Given the description of an element on the screen output the (x, y) to click on. 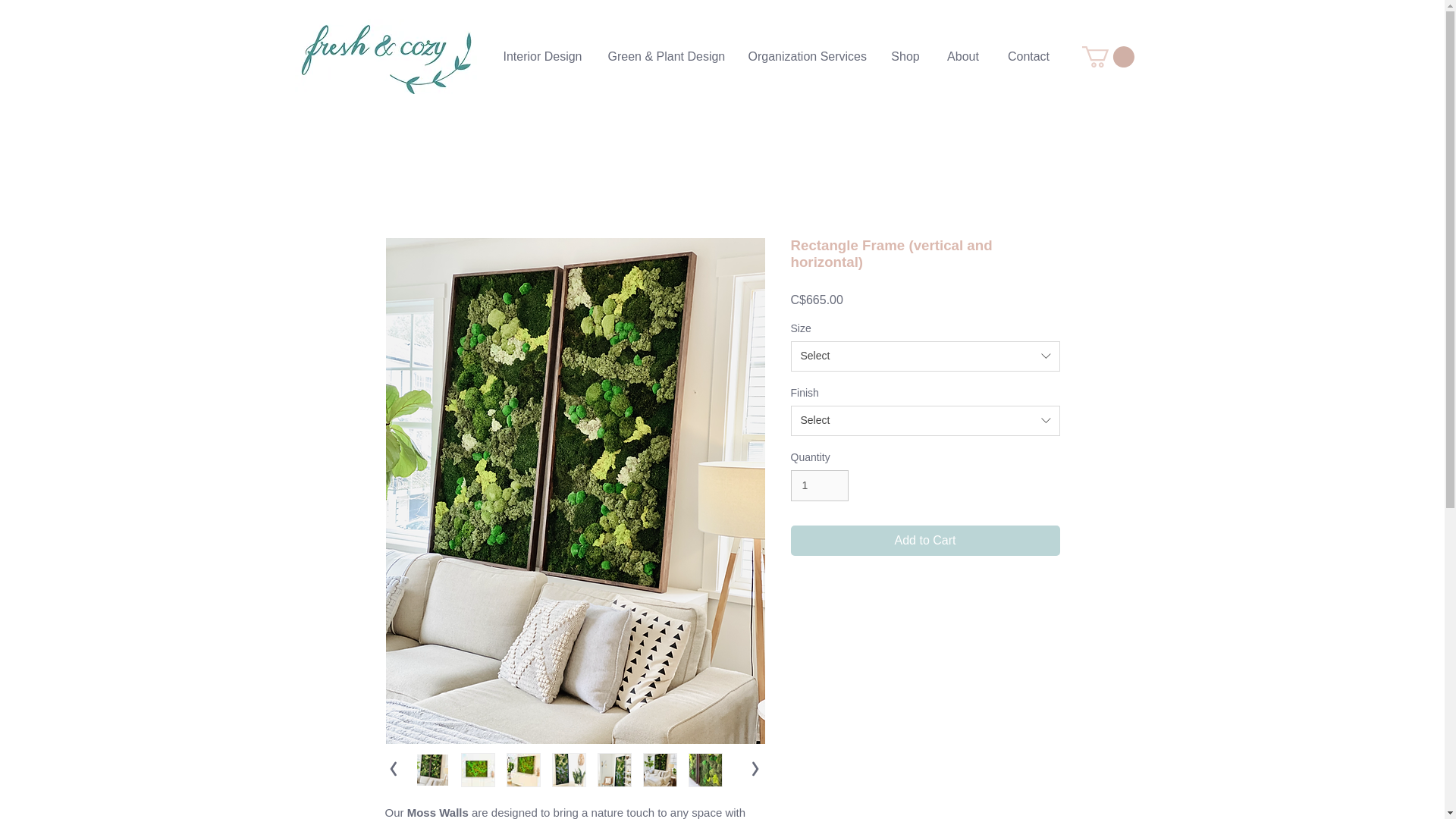
Contact (1027, 56)
Interior Design (542, 56)
Organization Services (806, 56)
About (962, 56)
Select (924, 356)
Shop (904, 56)
1 (818, 485)
Add to Cart (924, 539)
Select (924, 420)
